Given the description of an element on the screen output the (x, y) to click on. 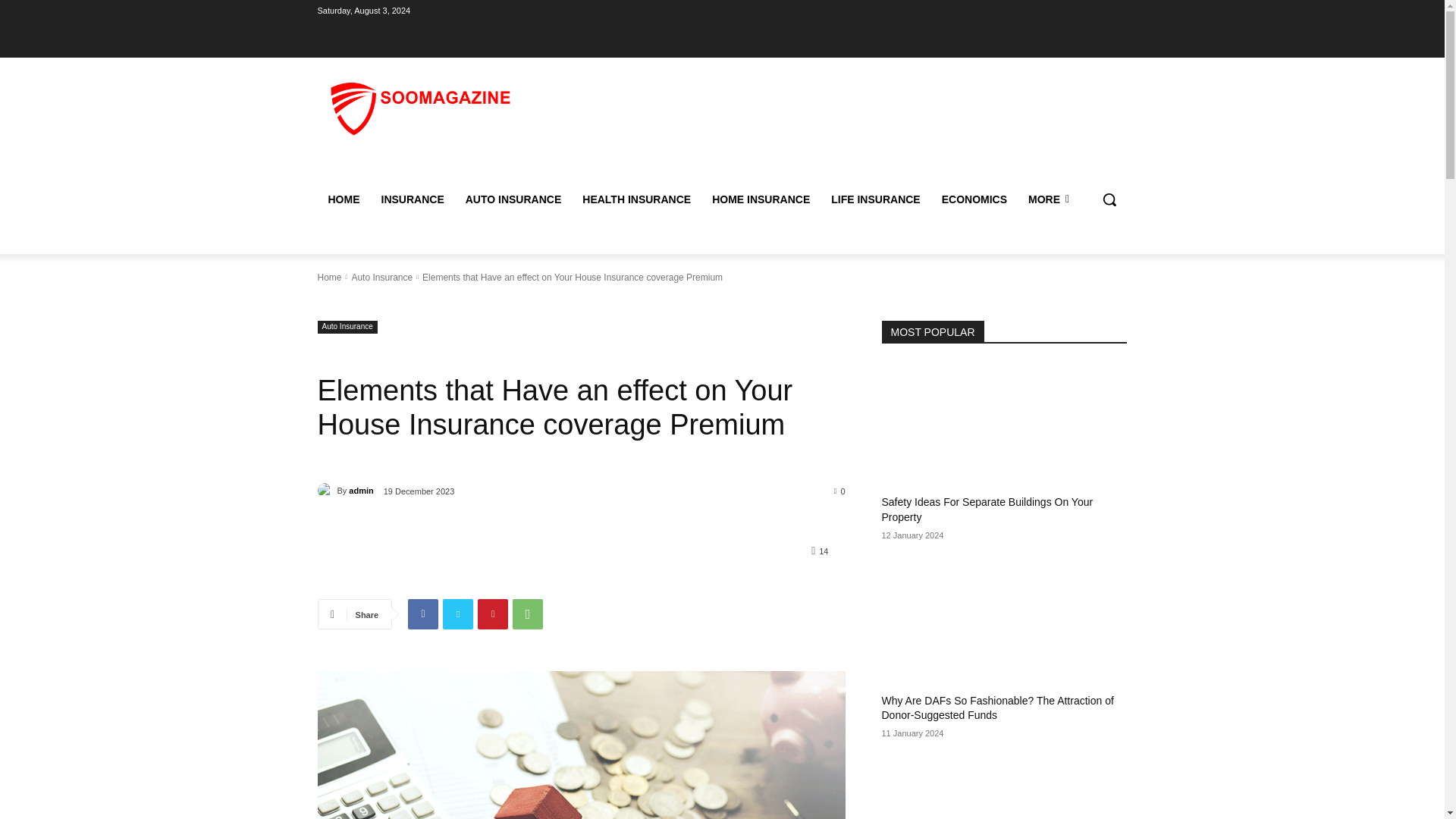
LIFE INSURANCE (875, 198)
HOME INSURANCE (761, 198)
Twitter (457, 613)
INSURANCE (411, 198)
HEALTH INSURANCE (636, 198)
Home (328, 276)
Pinterest (492, 613)
WhatsApp (527, 613)
Auto Insurance (381, 276)
HOME (343, 198)
